Given the description of an element on the screen output the (x, y) to click on. 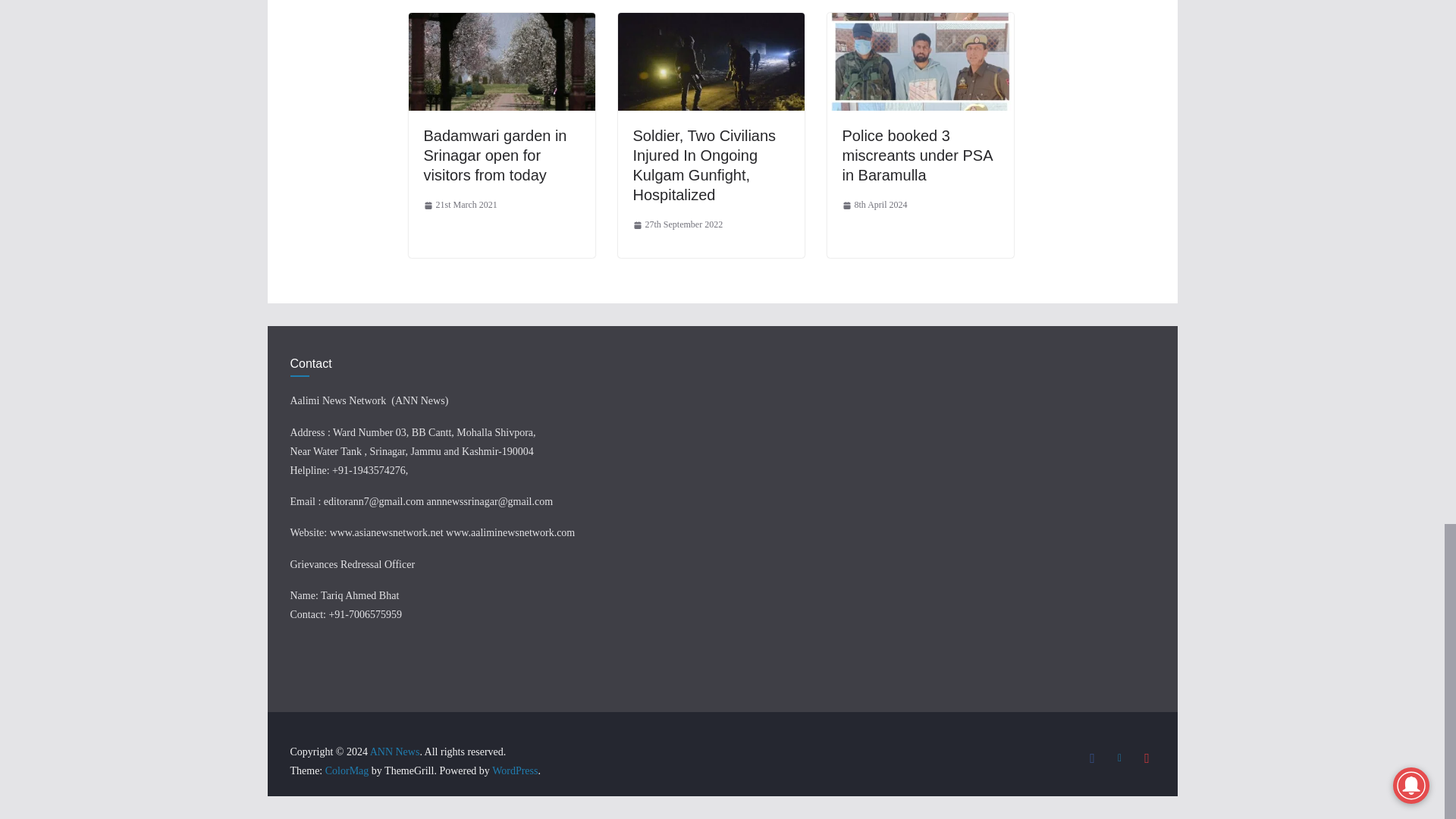
21st March 2021 (459, 205)
Badamwari garden in Srinagar open for visitors from today (494, 155)
Badamwari garden in Srinagar open for visitors from today (500, 22)
